Given the description of an element on the screen output the (x, y) to click on. 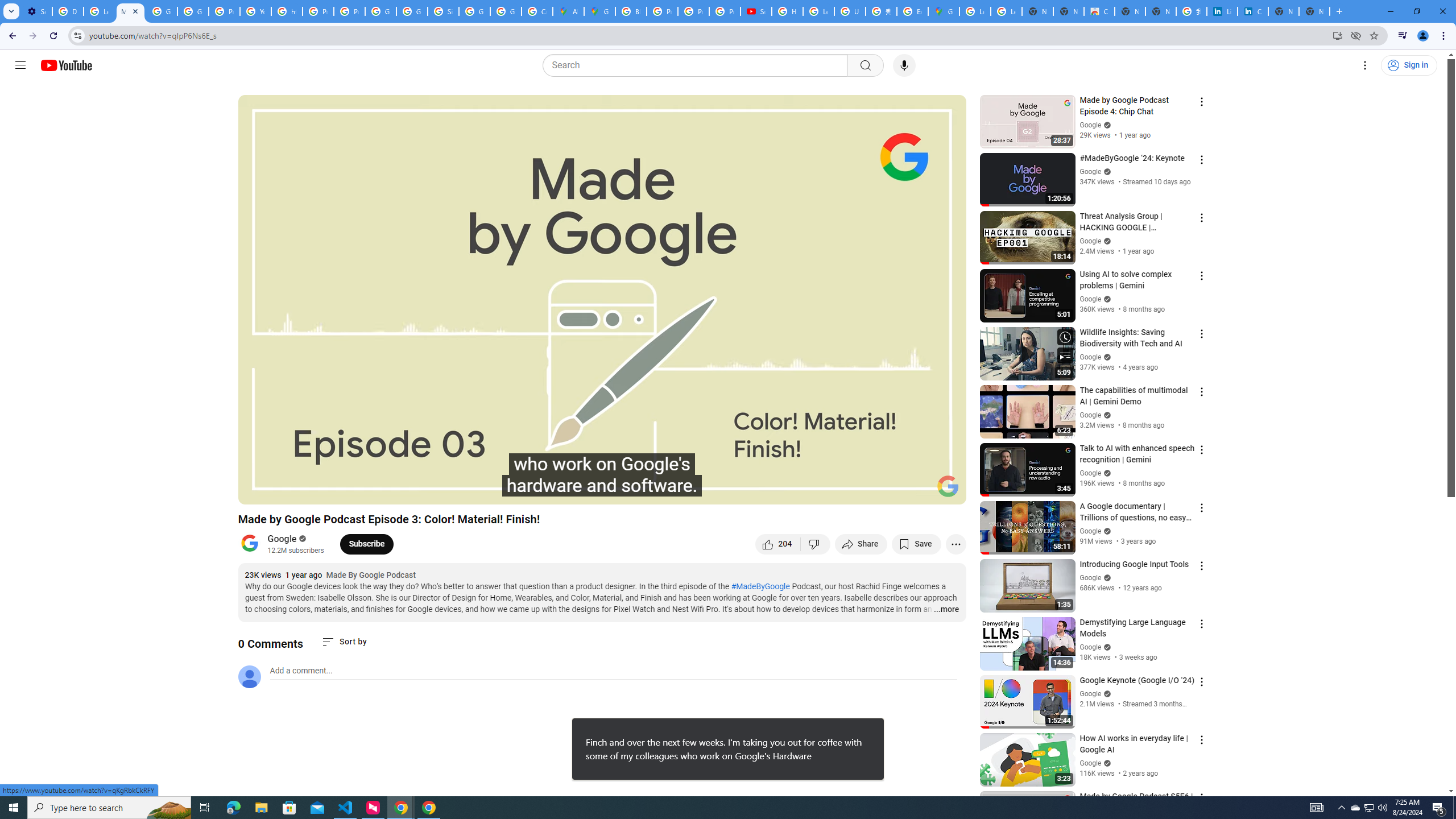
Dislike this video (815, 543)
Google Maps (599, 11)
Channel watermark (947, 486)
Subscriptions - YouTube (756, 11)
like this video along with 204 other people (777, 543)
Google Maps (943, 11)
Install YouTube (1336, 35)
